Given the description of an element on the screen output the (x, y) to click on. 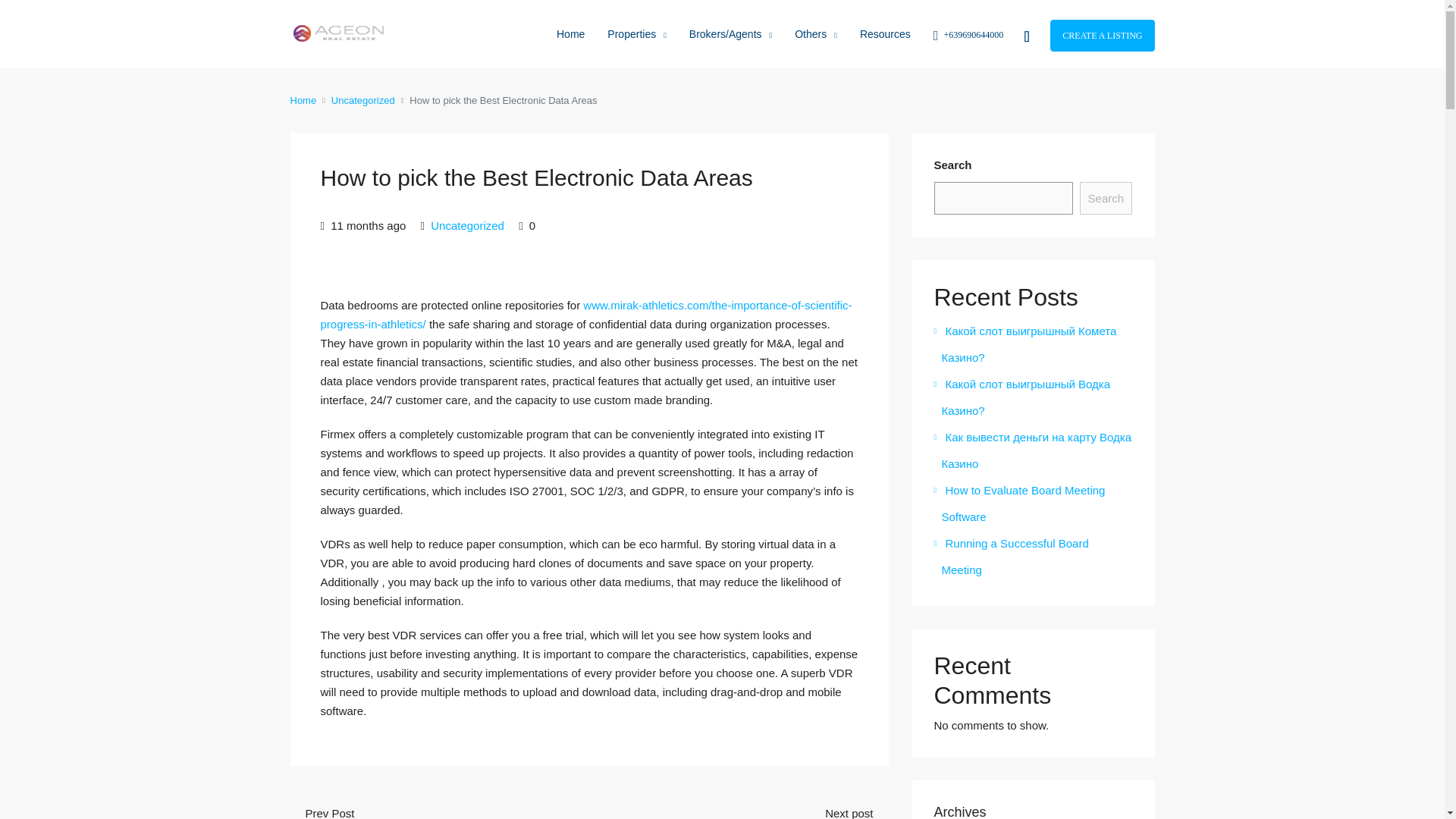
Others (815, 34)
Properties (636, 34)
Resources (884, 33)
